Given the description of an element on the screen output the (x, y) to click on. 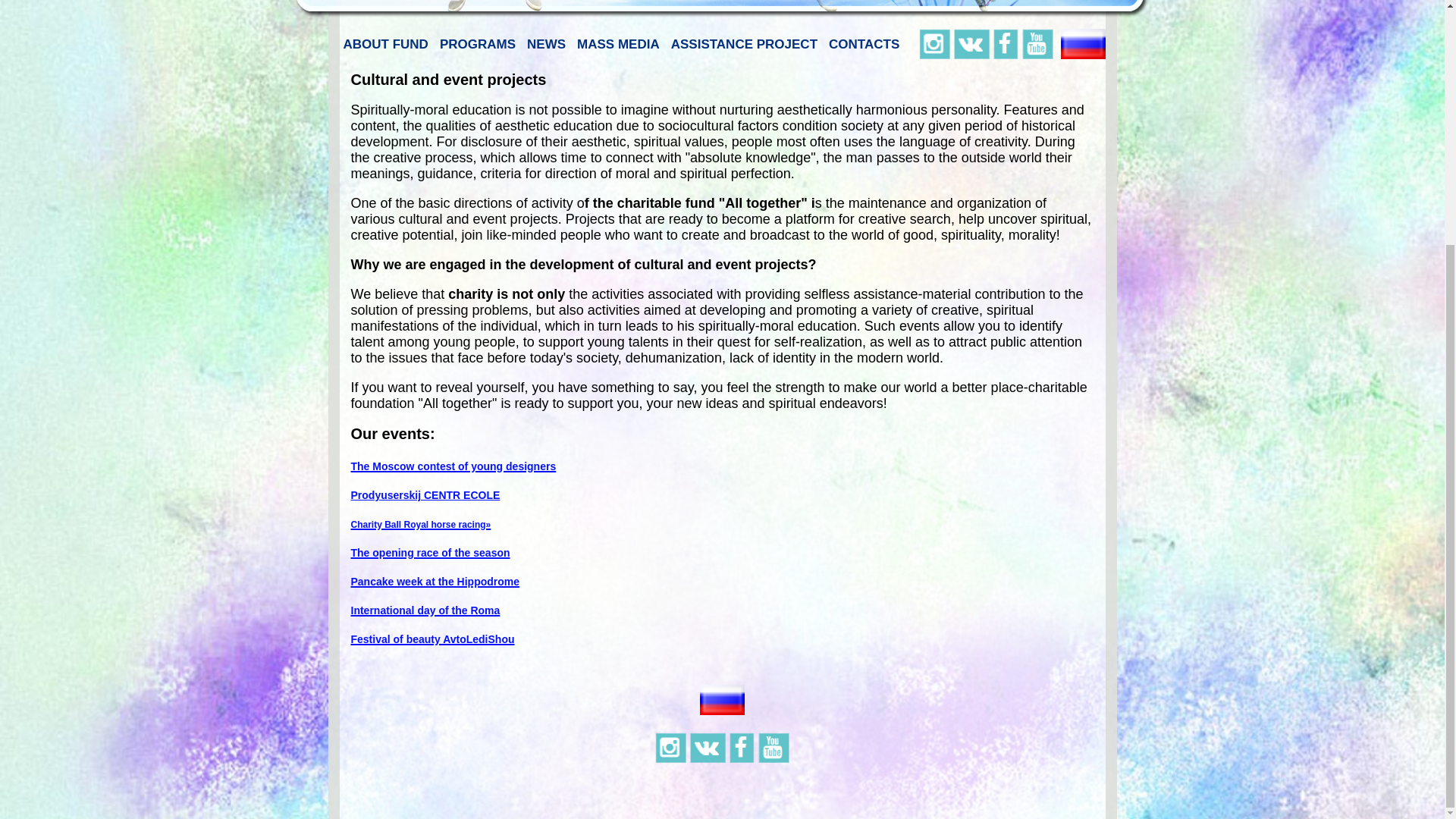
ASSISTANCE PROJECT (743, 44)
The opening race of the season (429, 550)
CONTACTS (863, 44)
Prodyuserskij CENTR ECOLE (424, 494)
ABOUT FUND (385, 44)
Pancake week at the Hippodrome (434, 579)
Festival of beauty AvtoLediShou (431, 637)
International day of the Roma (424, 608)
MASS MEDIA (618, 44)
LiveInternet (721, 791)
The Moscow contest of young designers (453, 464)
PROGRAMS (477, 44)
NEWS (545, 44)
